Given the description of an element on the screen output the (x, y) to click on. 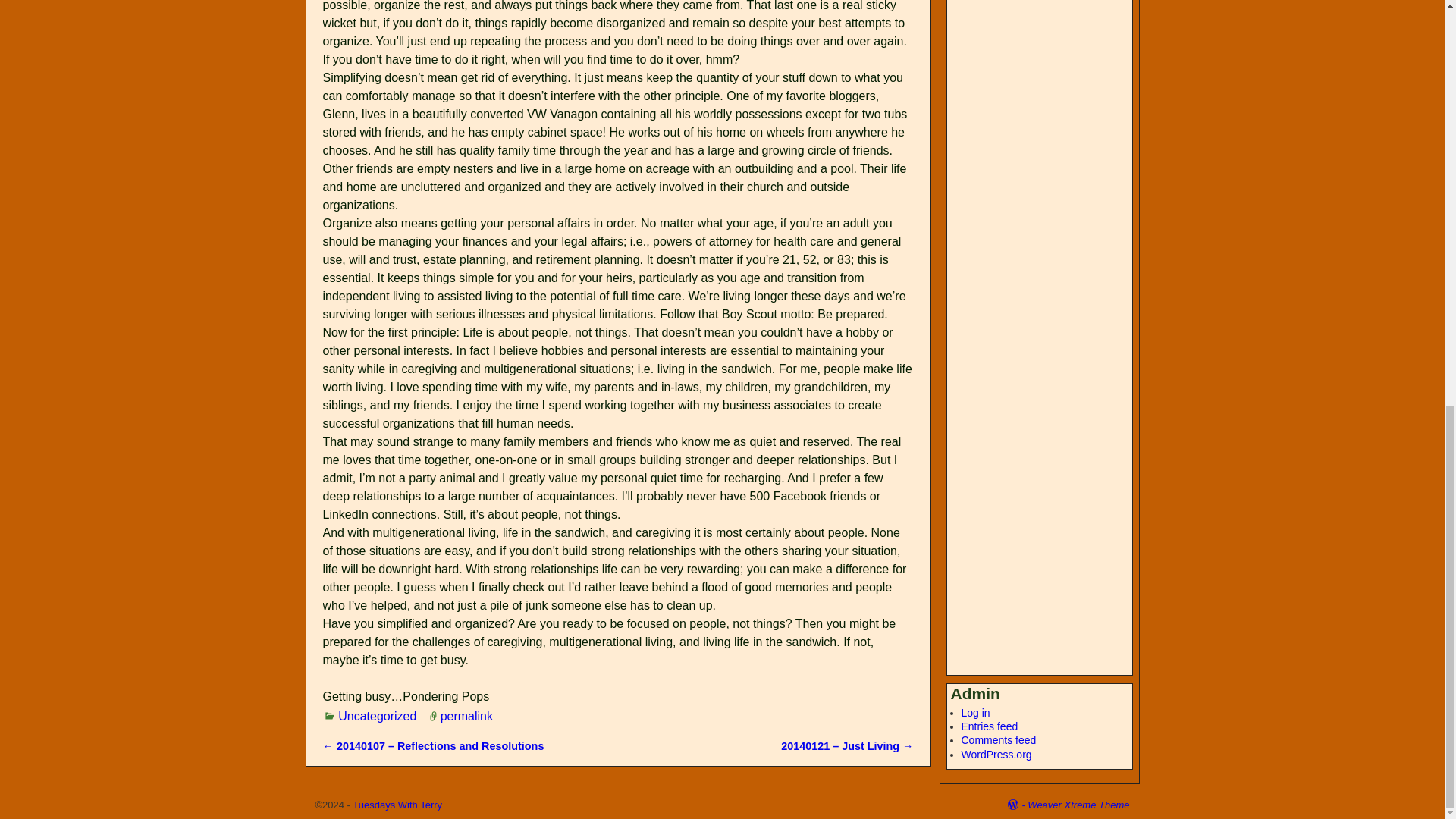
Tuesdays With Terry (397, 804)
Proudly powered by WordPress (1017, 804)
Weaver Xtreme Theme (1078, 804)
